Given the description of an element on the screen output the (x, y) to click on. 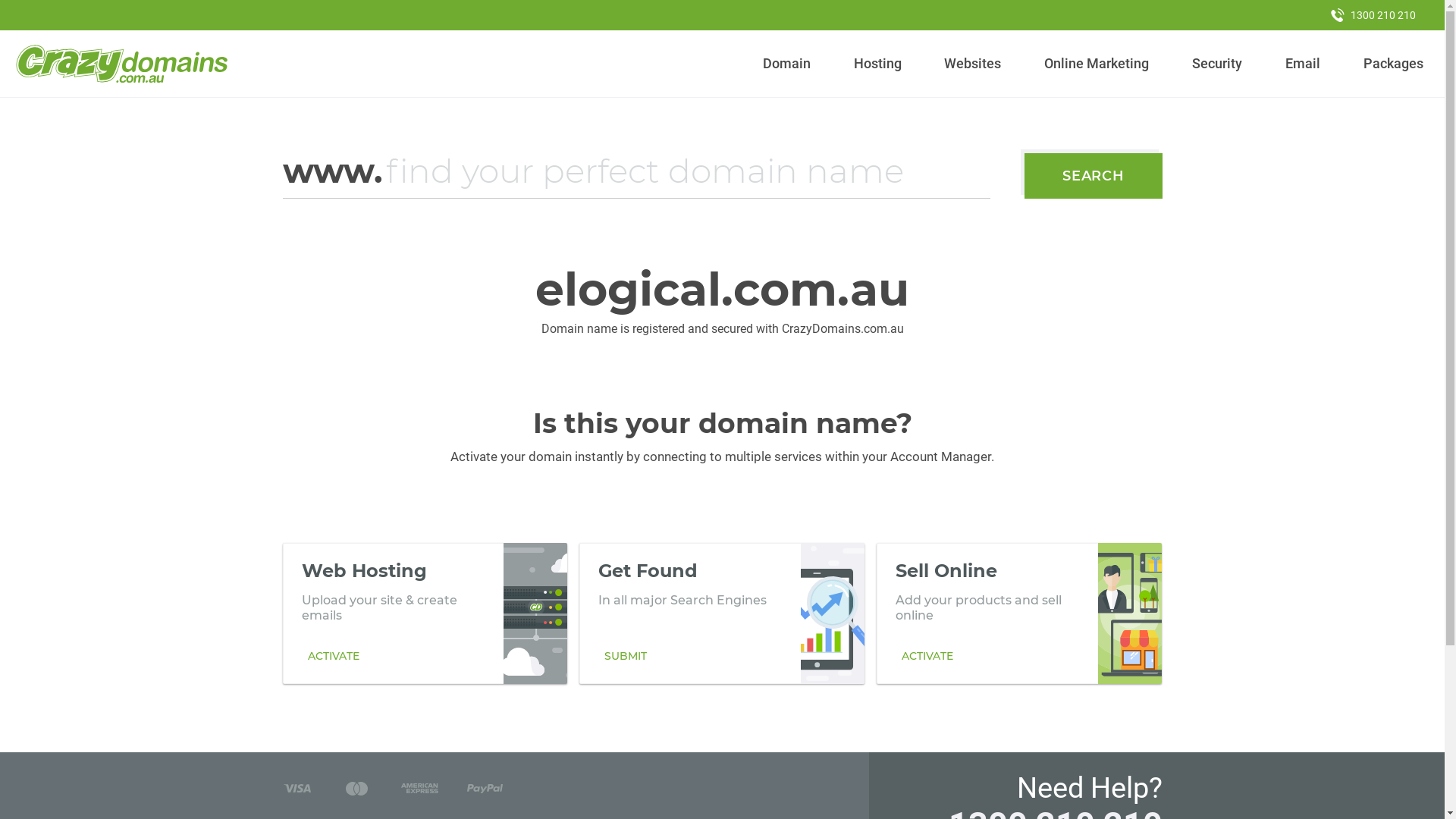
Packages Element type: text (1392, 63)
Websites Element type: text (972, 63)
SEARCH Element type: text (1092, 175)
Sell Online
Add your products and sell online
ACTIVATE Element type: text (1018, 613)
Domain Element type: text (786, 63)
Hosting Element type: text (877, 63)
Online Marketing Element type: text (1096, 63)
Email Element type: text (1302, 63)
1300 210 210 Element type: text (1373, 15)
Security Element type: text (1217, 63)
Web Hosting
Upload your site & create emails
ACTIVATE Element type: text (424, 613)
Get Found
In all major Search Engines
SUBMIT Element type: text (721, 613)
